Given the description of an element on the screen output the (x, y) to click on. 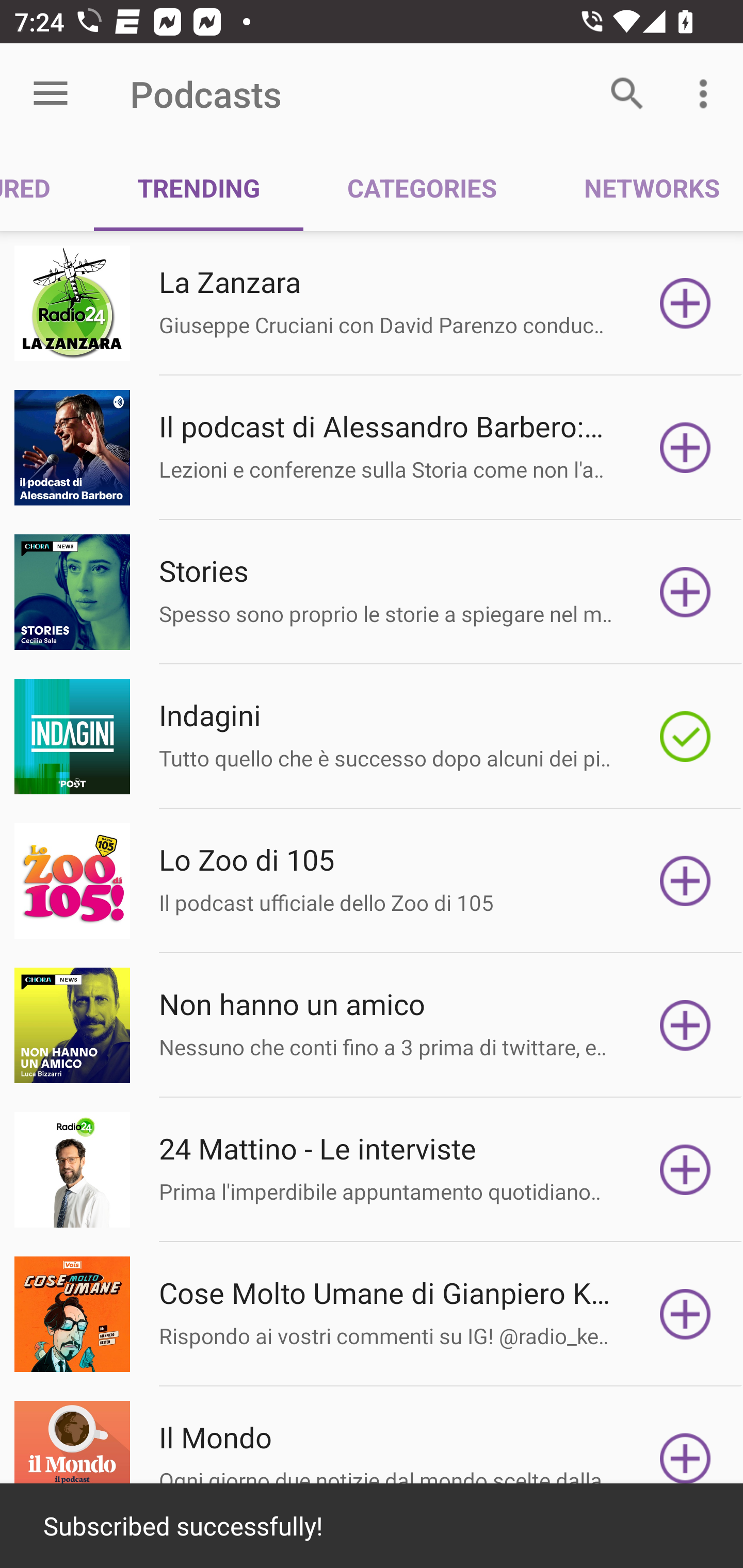
Open menu (50, 93)
Search (626, 93)
More options (706, 93)
TRENDING (198, 187)
CATEGORIES (421, 187)
NETWORKS (641, 187)
Subscribe (685, 303)
Subscribe (685, 447)
Subscribe (685, 591)
Subscribed (685, 736)
Subscribe (685, 881)
Subscribe (685, 1025)
Subscribe (685, 1169)
Subscribe (685, 1313)
Subscribe (685, 1458)
Subscribed successfully! (371, 1525)
